Given the description of an element on the screen output the (x, y) to click on. 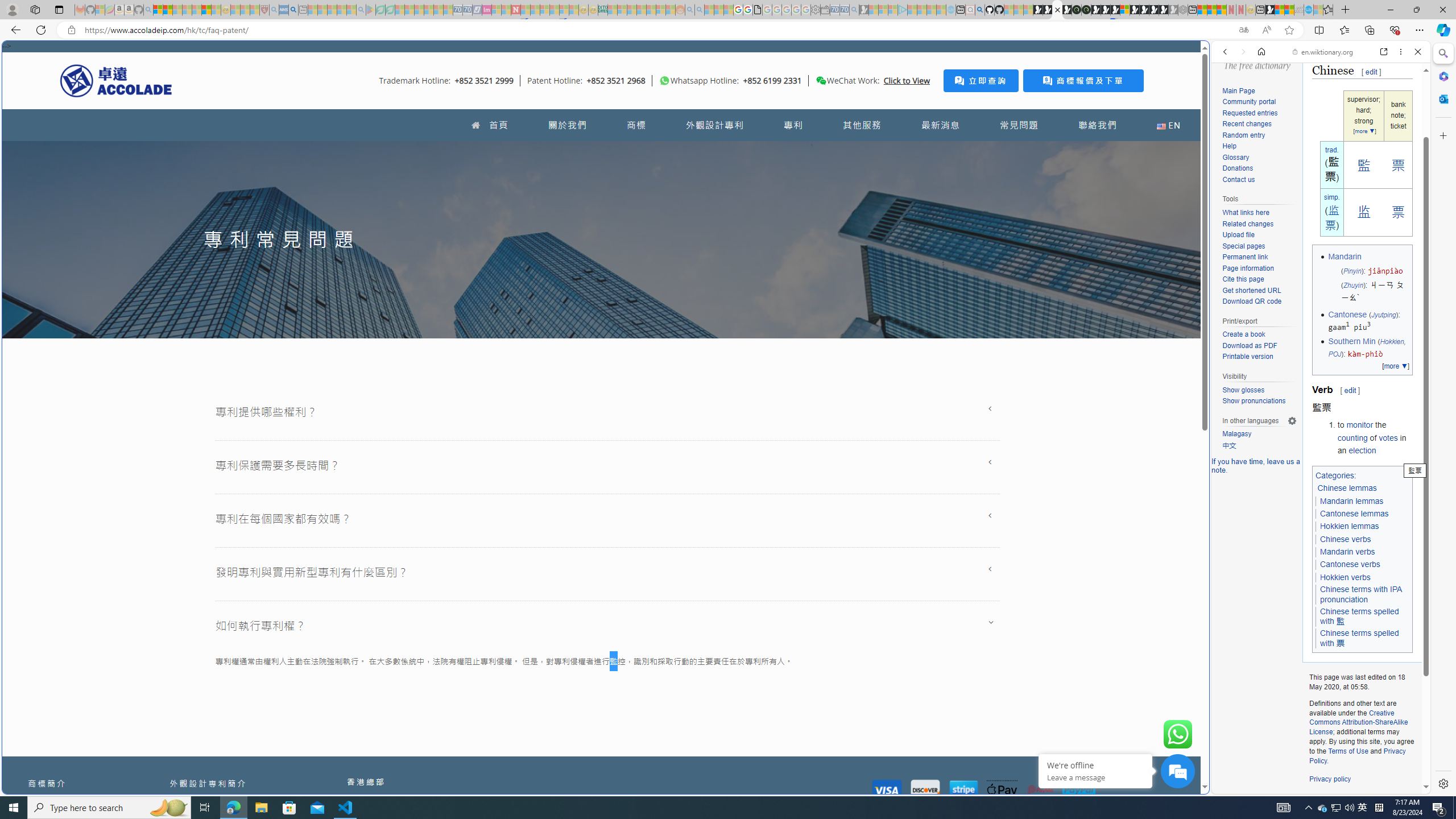
Chinese lemmas (1348, 488)
Download as PDF (1248, 345)
Chinese terms with IPA pronunciation (1361, 594)
Donations (1237, 168)
Requested entries (1249, 112)
Create a book (1243, 334)
Jyutping (1383, 314)
Creative Commons Attribution-ShareAlike License (1357, 722)
Get shortened URL (1259, 290)
